Given the description of an element on the screen output the (x, y) to click on. 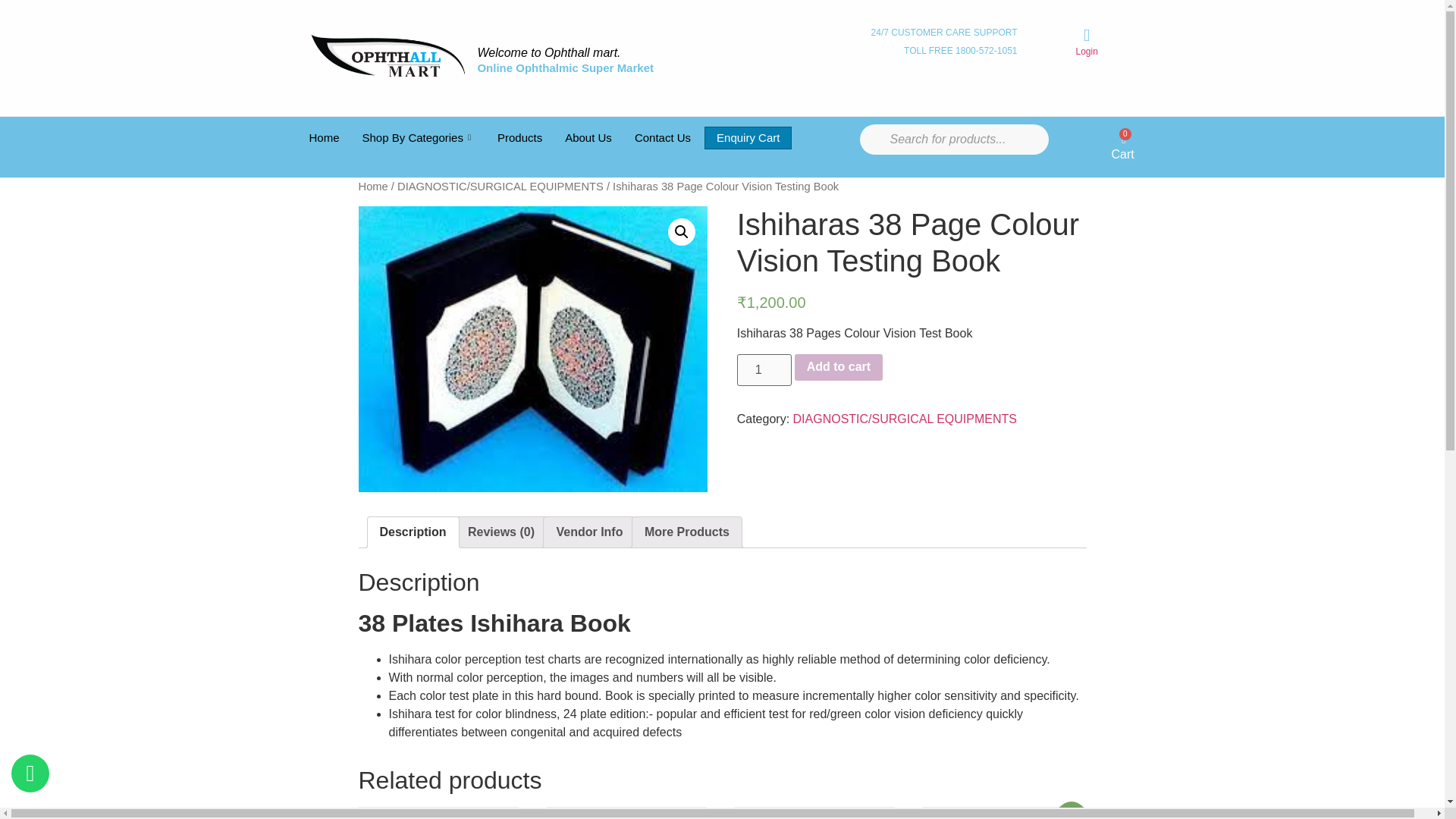
Qty (764, 369)
Products (519, 137)
Contact Us (662, 137)
Home (323, 137)
Shop By Categories (418, 137)
Login (1086, 50)
OphthallAll Mart Logo (387, 55)
Welcome to Ophthall mart. (548, 51)
About Us (588, 137)
Enquiry Cart (747, 137)
ishihars (532, 349)
1 (764, 369)
